Given the description of an element on the screen output the (x, y) to click on. 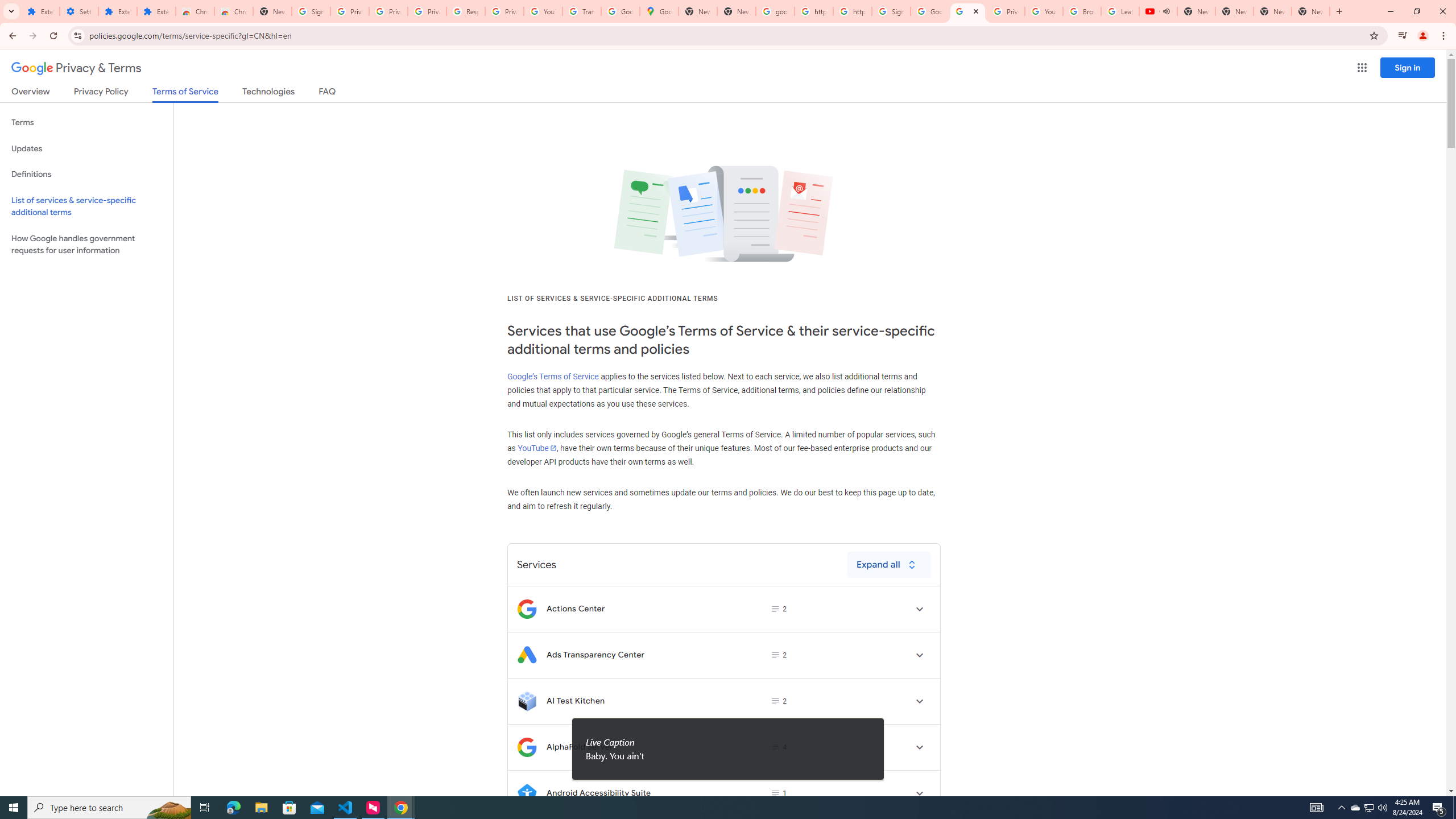
Logo for Android Accessibility Suite (526, 792)
New Tab (1311, 11)
Google Maps (659, 11)
